Given the description of an element on the screen output the (x, y) to click on. 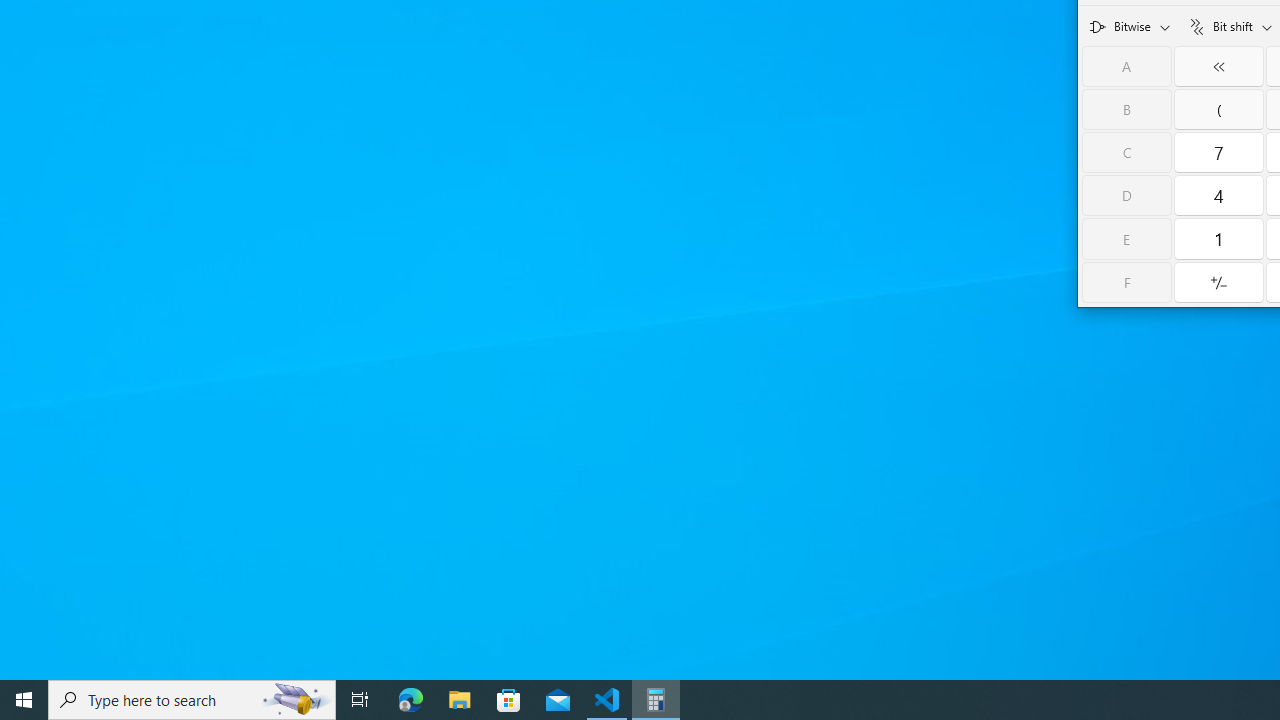
A (1126, 66)
F (1126, 282)
One (1218, 238)
Bitwise (1130, 25)
